Given the description of an element on the screen output the (x, y) to click on. 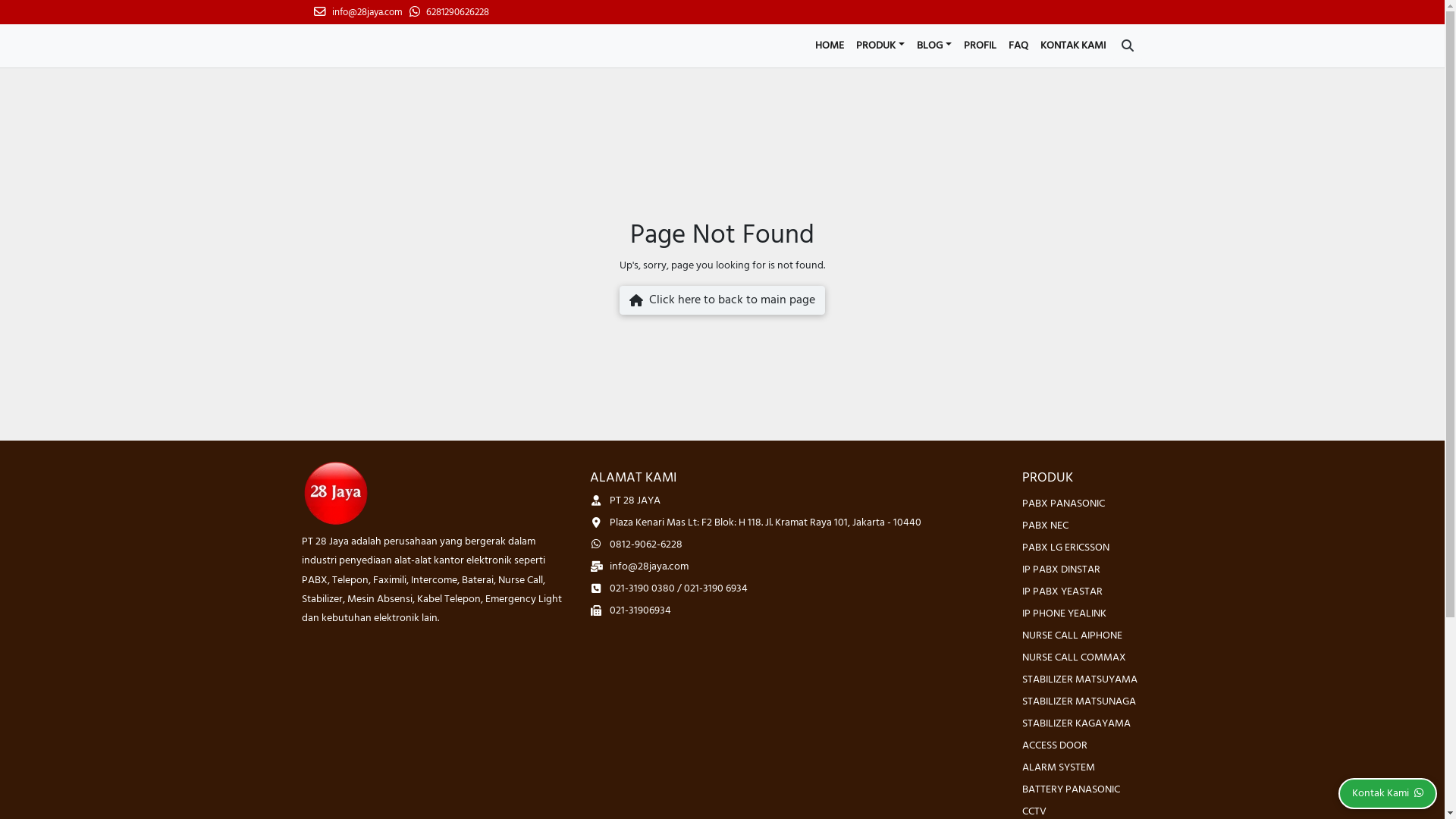
ALARM SYSTEM Element type: text (1058, 767)
Kontak Kami Element type: text (1387, 793)
BATTERY PANASONIC Element type: text (1071, 789)
info@28jaya.com Element type: text (357, 12)
  Click here to back to main page Element type: text (722, 299)
IP PHONE YEALINK Element type: text (1064, 613)
PABX PANASONIC Element type: text (1063, 503)
FAQ Element type: text (1018, 45)
6281290626228 Element type: text (449, 12)
NURSE CALL AIPHONE Element type: text (1072, 635)
PABX NEC Element type: text (1045, 525)
HOME Element type: text (829, 45)
ACCESS DOOR Element type: text (1054, 745)
STABILIZER KAGAYAMA Element type: text (1076, 723)
PROFIL Element type: text (979, 45)
STABILIZER MATSUYAMA Element type: text (1079, 679)
PRODUK Element type: text (880, 45)
Togle Search Bar Element type: hover (1126, 45)
STABILIZER MATSUNAGA Element type: text (1078, 701)
KONTAK KAMI Element type: text (1072, 45)
IP PABX YEASTAR Element type: text (1062, 591)
NURSE CALL COMMAX Element type: text (1074, 657)
PABX LG ERICSSON Element type: text (1065, 547)
IP PABX DINSTAR Element type: text (1061, 569)
BLOG Element type: text (933, 45)
